Given the description of an element on the screen output the (x, y) to click on. 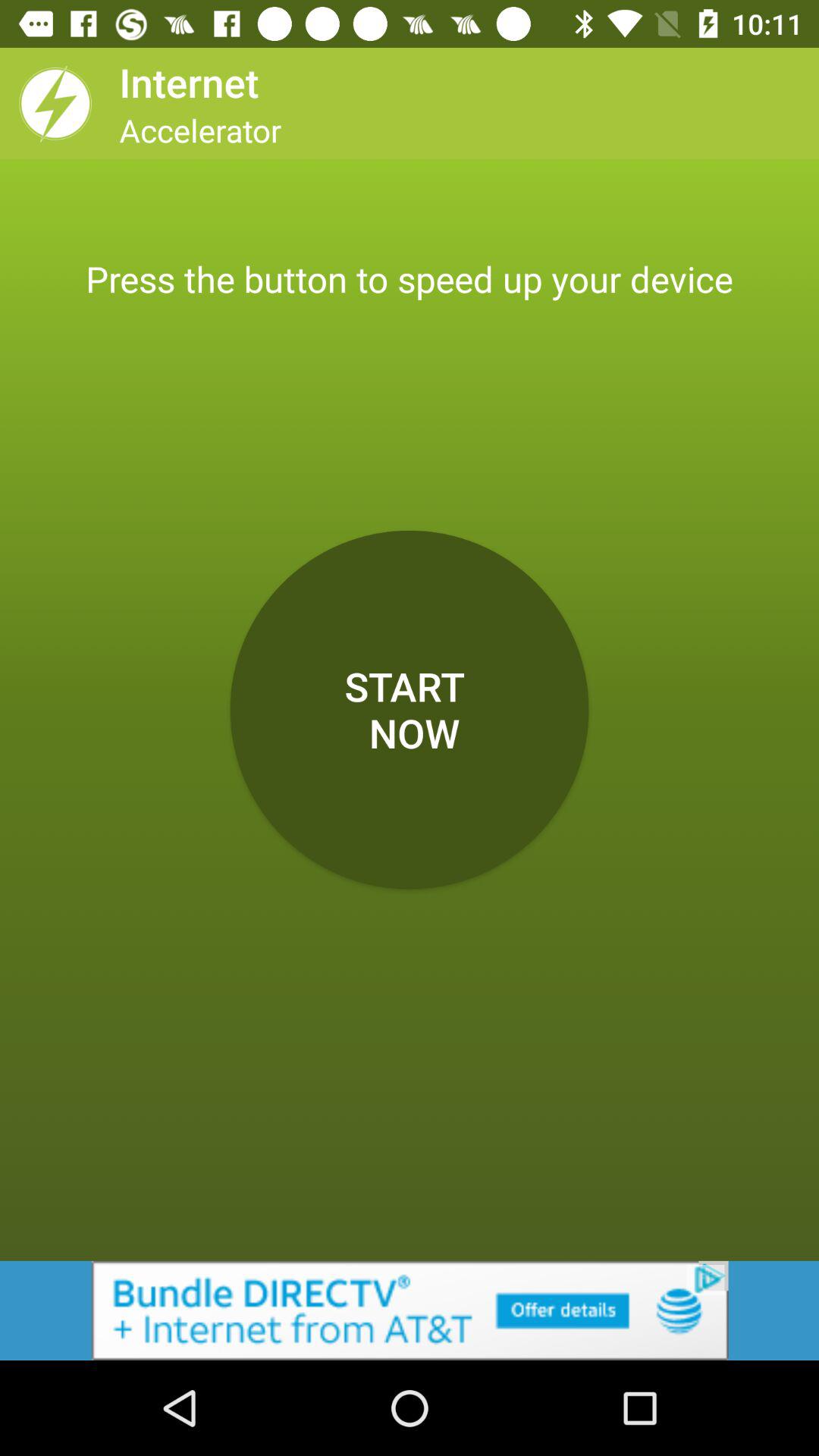
advertisement for at+t (409, 1310)
